Given the description of an element on the screen output the (x, y) to click on. 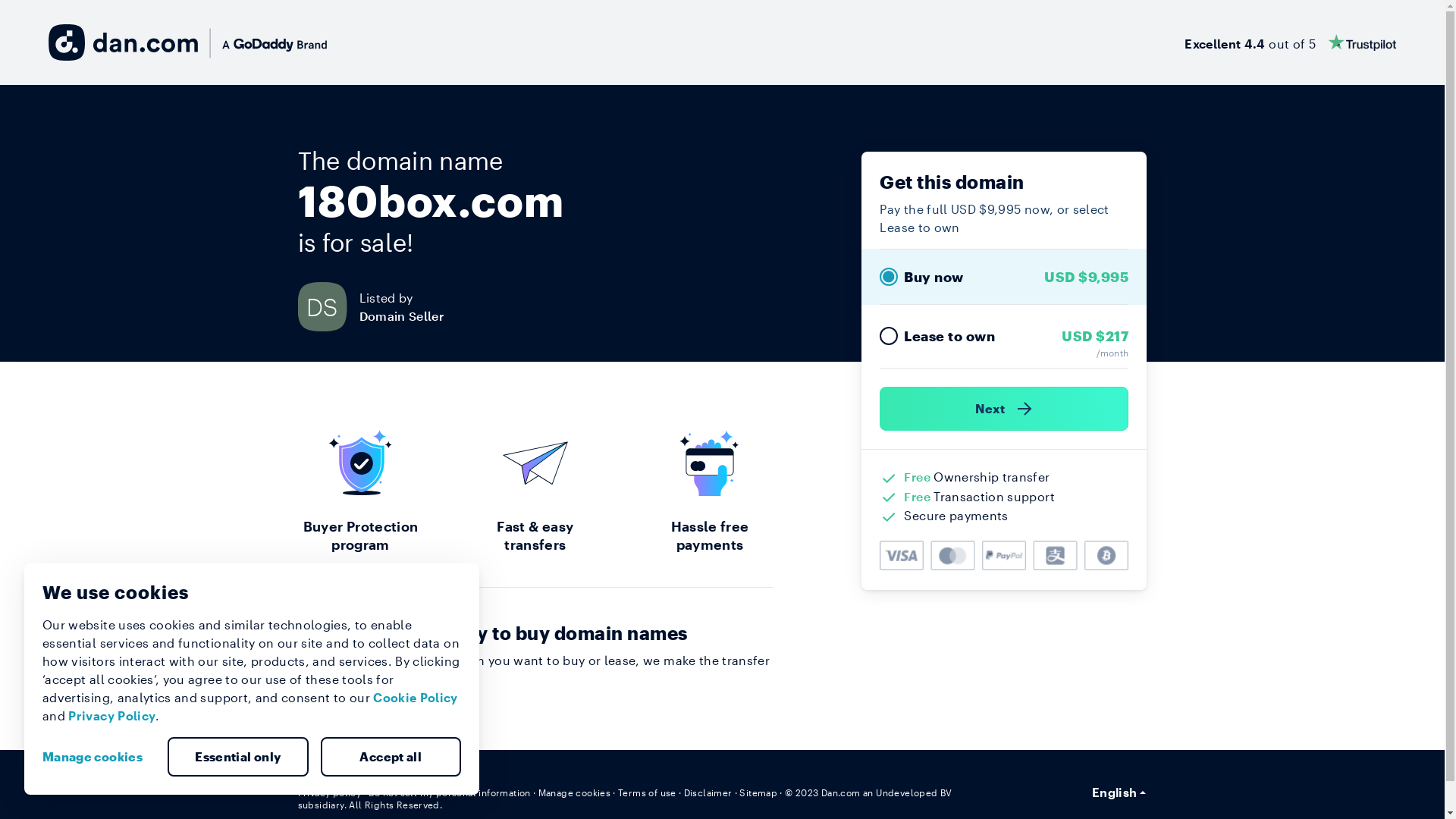
Manage cookies Element type: text (574, 792)
Cookie Policy Element type: text (415, 697)
Essential only Element type: text (237, 756)
Terms of use Element type: text (647, 792)
Privacy Policy Element type: text (111, 715)
Privacy policy Element type: text (328, 792)
Manage cookies Element type: text (98, 756)
Next
) Element type: text (1003, 408)
Disclaimer Element type: text (708, 792)
Sitemap Element type: text (758, 792)
Excellent 4.4 out of 5 Element type: text (1290, 42)
Do not sell my personal information Element type: text (449, 792)
Accept all Element type: text (390, 756)
English Element type: text (1119, 792)
